Given the description of an element on the screen output the (x, y) to click on. 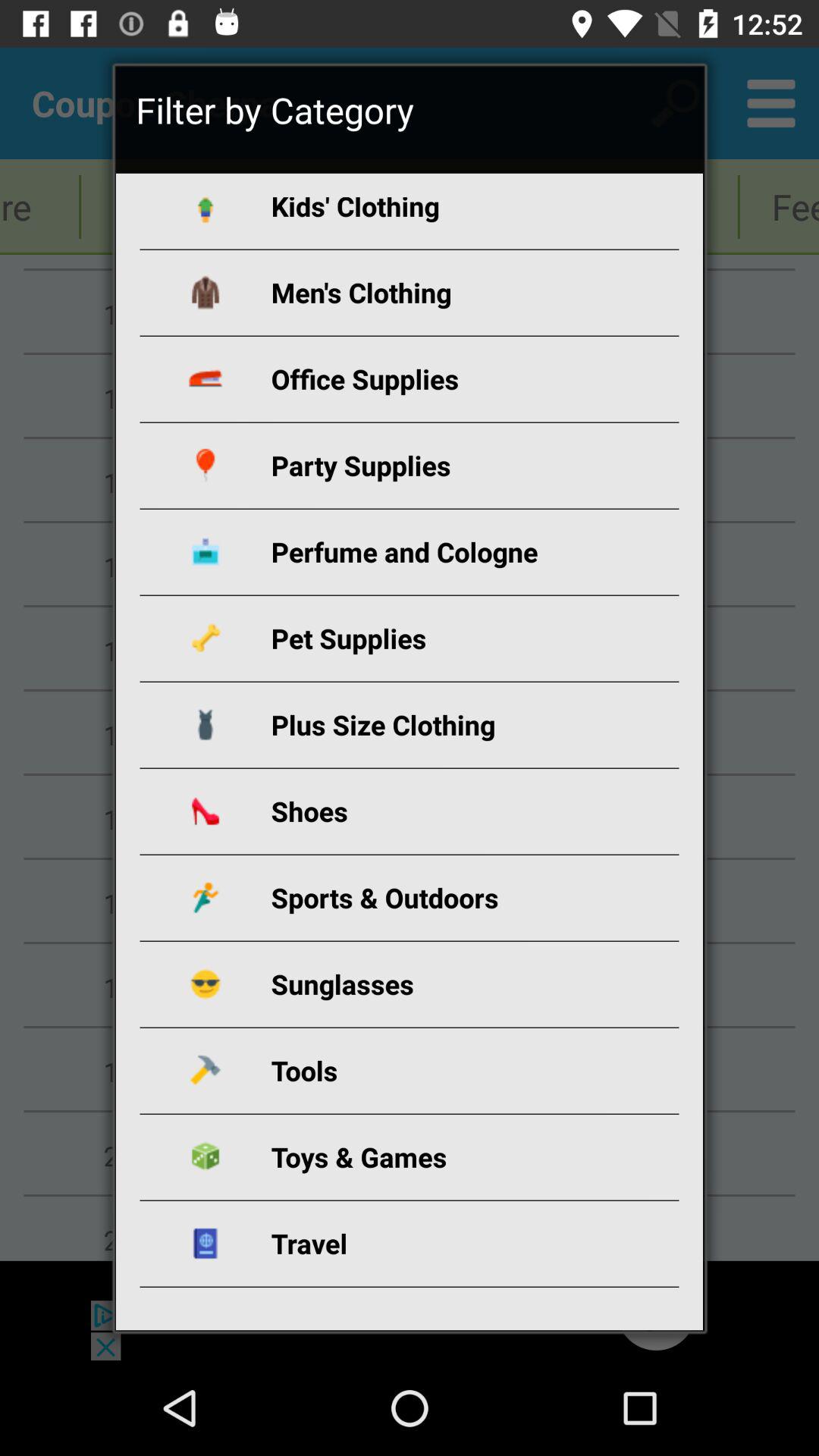
scroll to the shoes icon (427, 810)
